Given the description of an element on the screen output the (x, y) to click on. 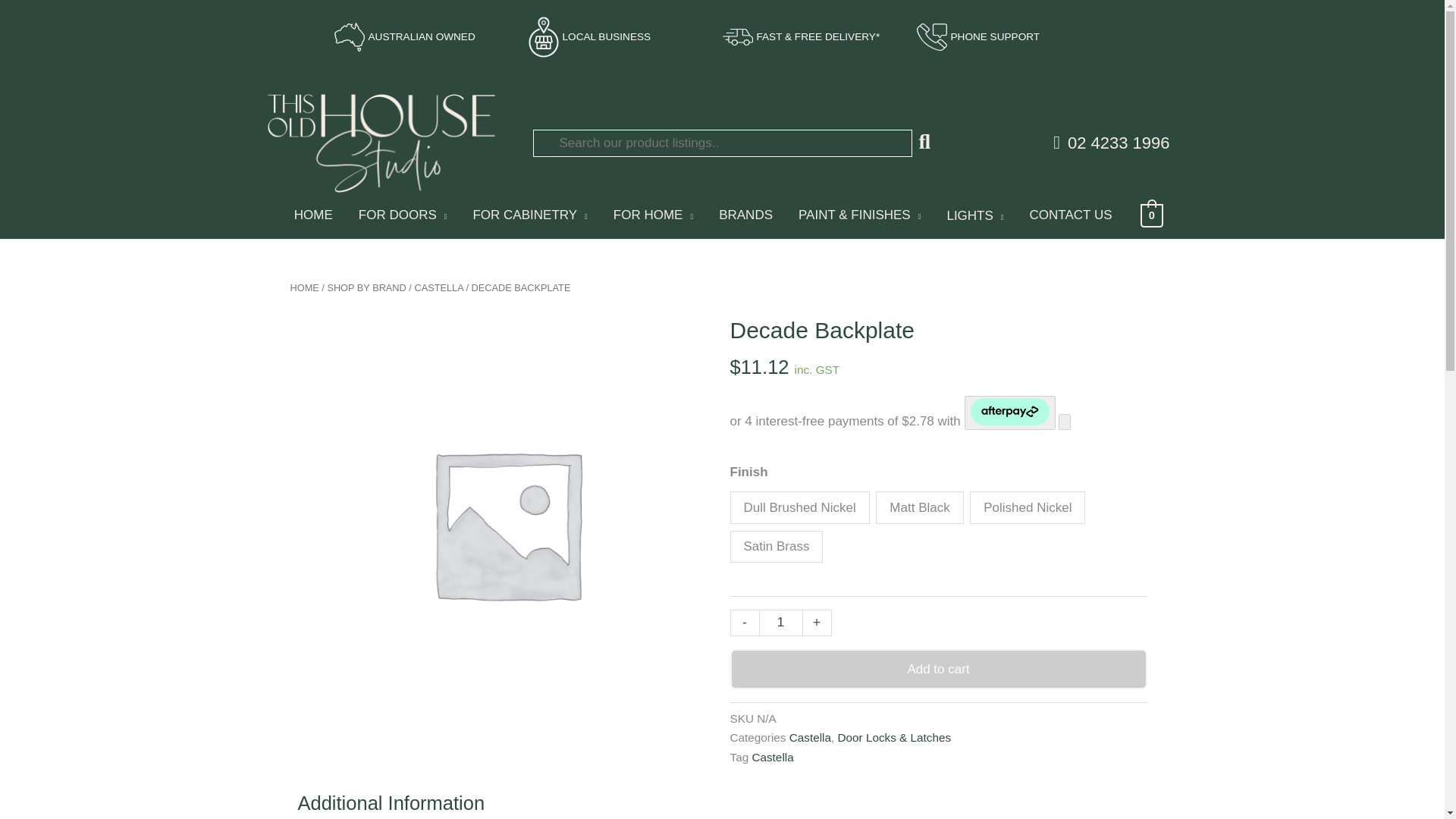
HOME (313, 215)
FOR HOME (652, 215)
BRANDS (746, 215)
1 (780, 622)
FOR DOORS (403, 215)
FOR CABINETRY (529, 215)
02 4233 1996 (1110, 143)
